Given the description of an element on the screen output the (x, y) to click on. 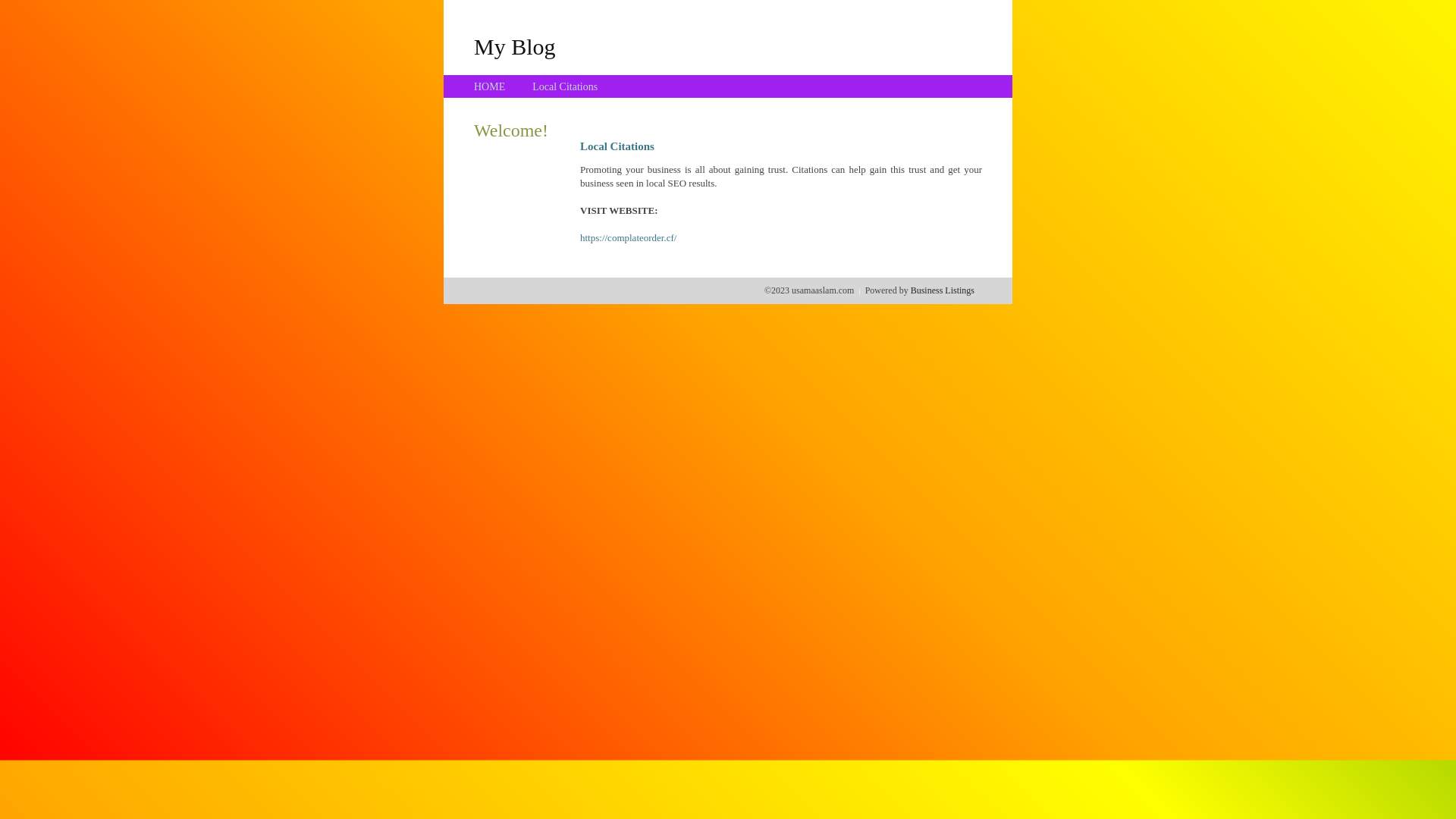
HOME Element type: text (489, 86)
Local Citations Element type: text (564, 86)
My Blog Element type: text (514, 46)
https://complateorder.cf/ Element type: text (628, 237)
Business Listings Element type: text (942, 290)
